Given the description of an element on the screen output the (x, y) to click on. 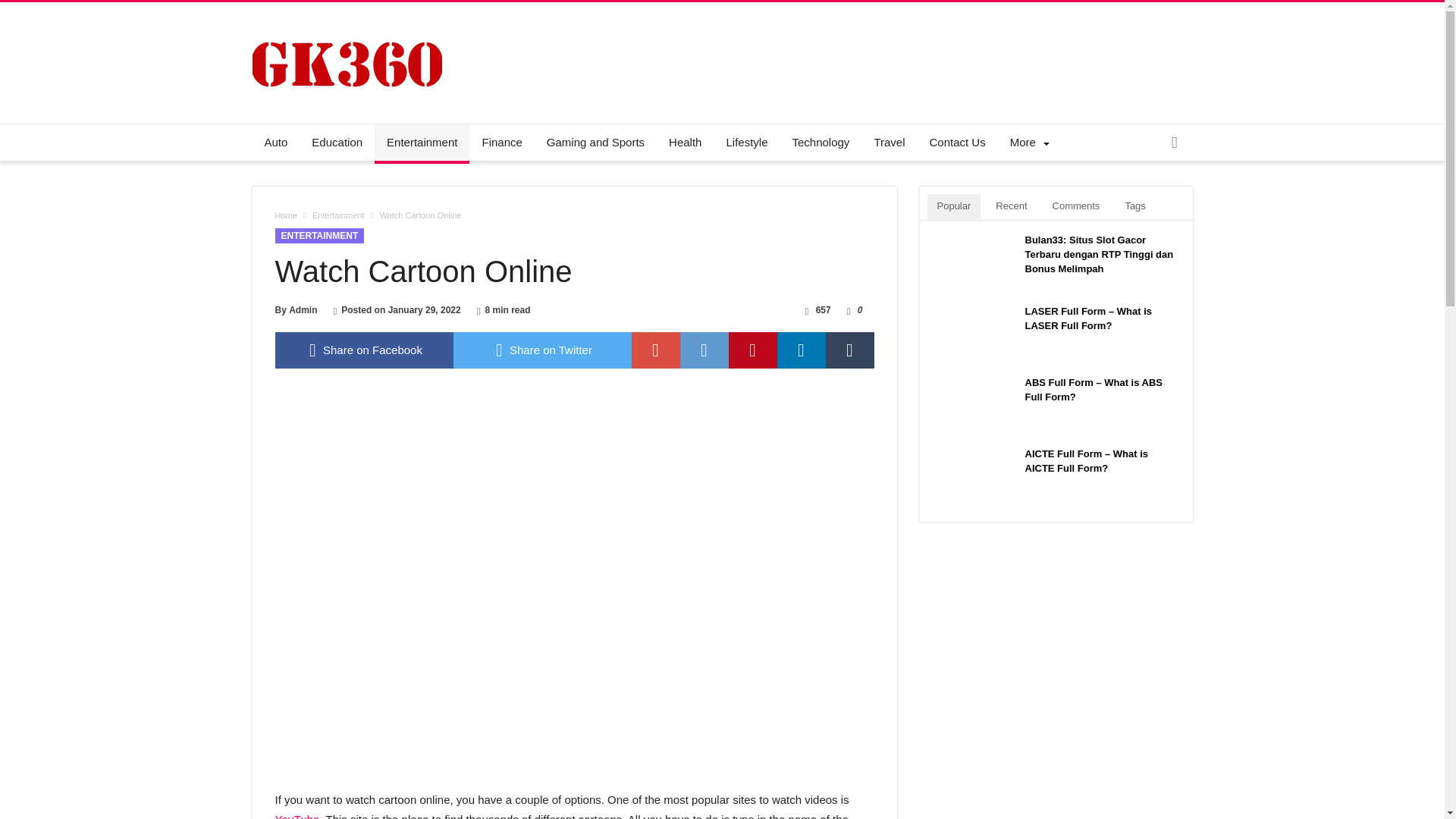
Admin (302, 309)
Share on Facebook (363, 350)
facebook (363, 350)
ENTERTAINMENT (319, 235)
Contact Us (957, 142)
google (654, 350)
reddit (703, 350)
pinterest (752, 350)
Technology (819, 142)
More (1027, 142)
Auto (275, 142)
Share on Tumblr (849, 350)
Home (286, 215)
Gaming and Sports (595, 142)
Share on Reddit (703, 350)
